Given the description of an element on the screen output the (x, y) to click on. 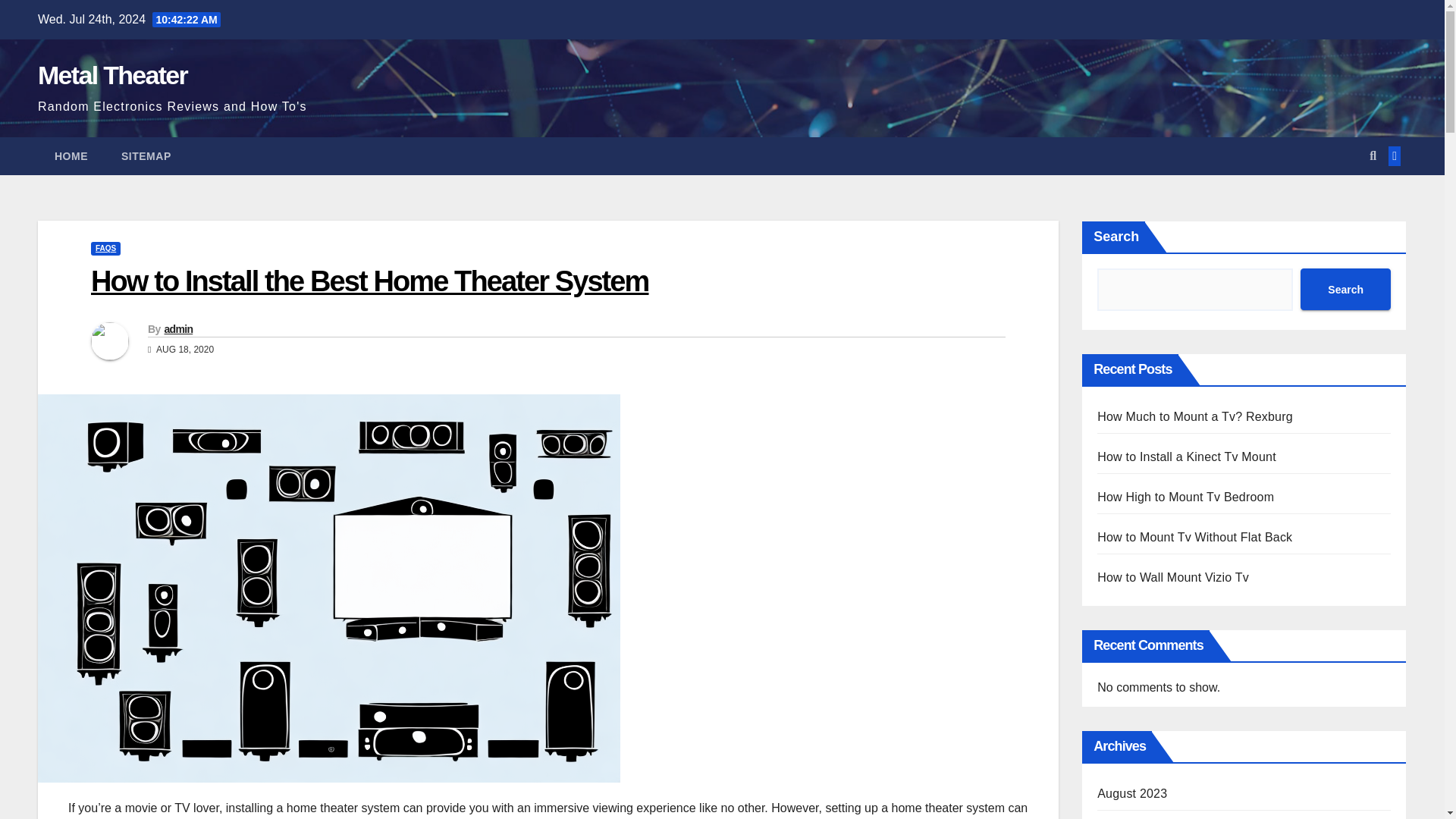
How to Install the Best Home Theater System (369, 281)
SITEMAP (145, 156)
HOME (70, 156)
admin (177, 328)
Home (70, 156)
FAQS (105, 248)
Metal Theater (112, 74)
Permalink to: How to Install the Best Home Theater System (369, 281)
